Given the description of an element on the screen output the (x, y) to click on. 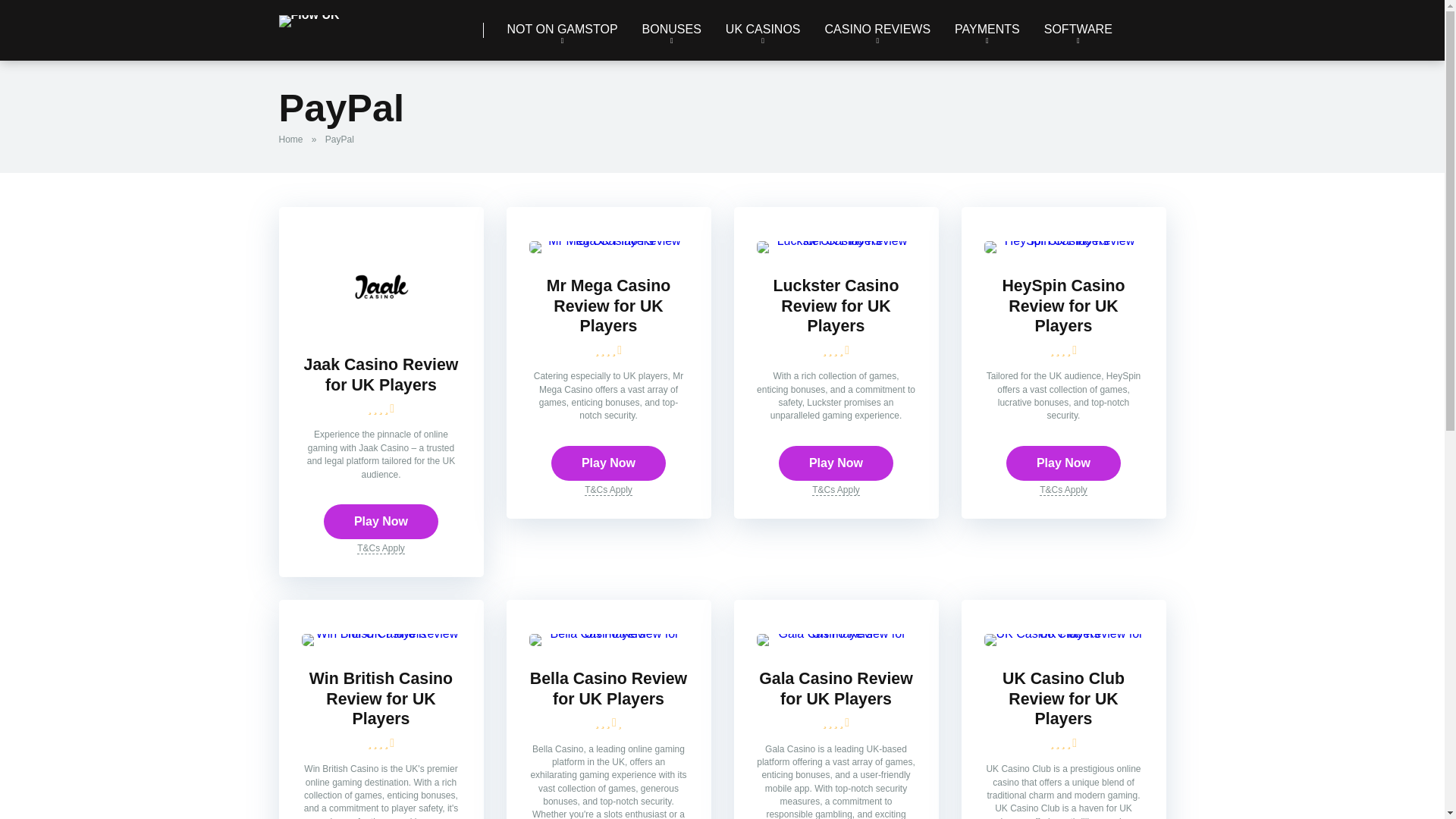
HeySpin Casino Review for UK Players (1063, 240)
Win British Casino Review for UK Players (381, 633)
Play Now (1063, 462)
Jaak Casino Review for UK Players (380, 327)
Luckster Casino Review for UK Players (836, 305)
NOT ON GAMSTOP (561, 30)
Play Now (608, 462)
CASINO REVIEWS (877, 30)
Luckster Casino Review for UK Players (836, 240)
Play Now (835, 462)
